Given the description of an element on the screen output the (x, y) to click on. 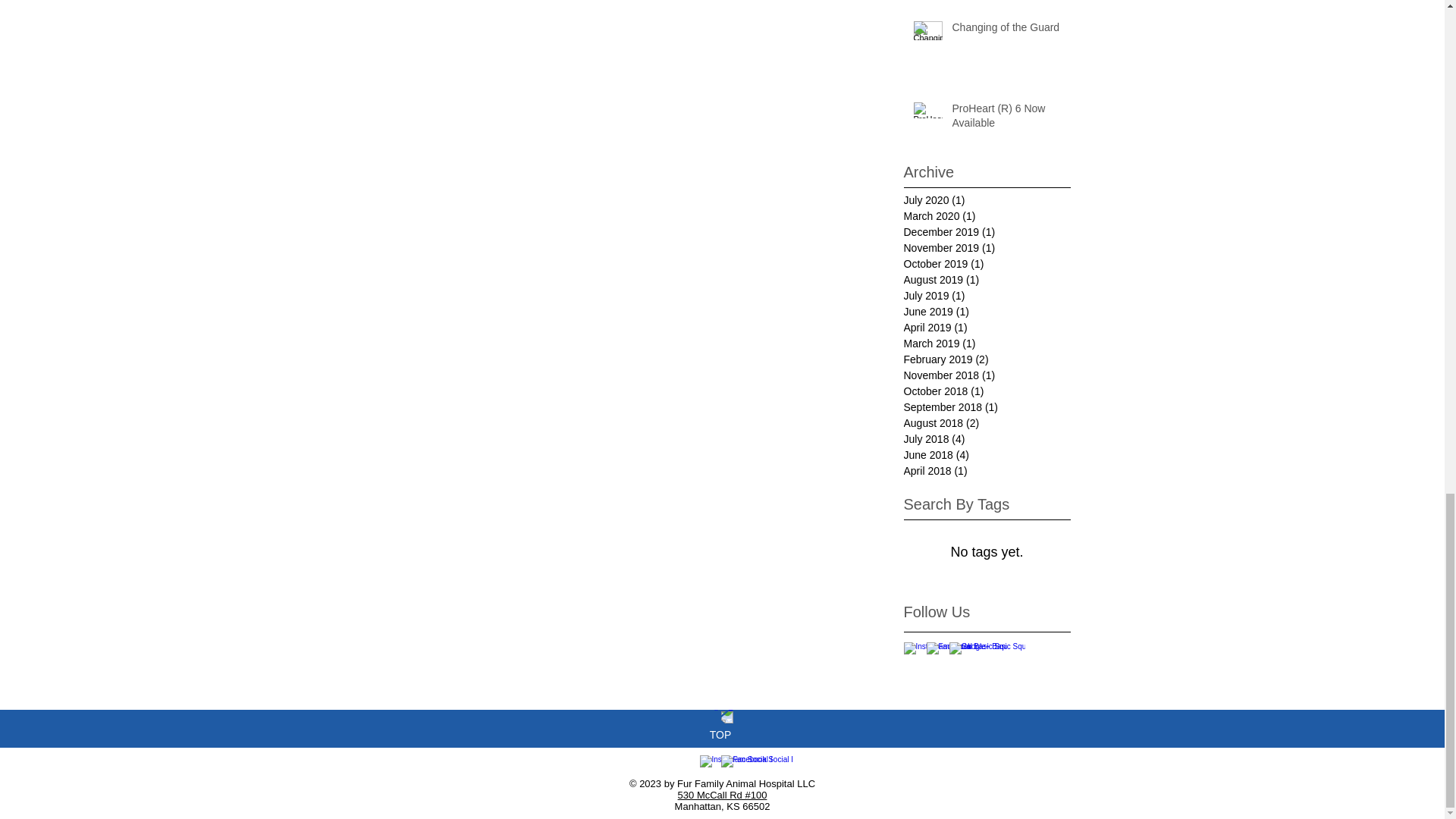
Changing of the Guard (1006, 30)
